Given the description of an element on the screen output the (x, y) to click on. 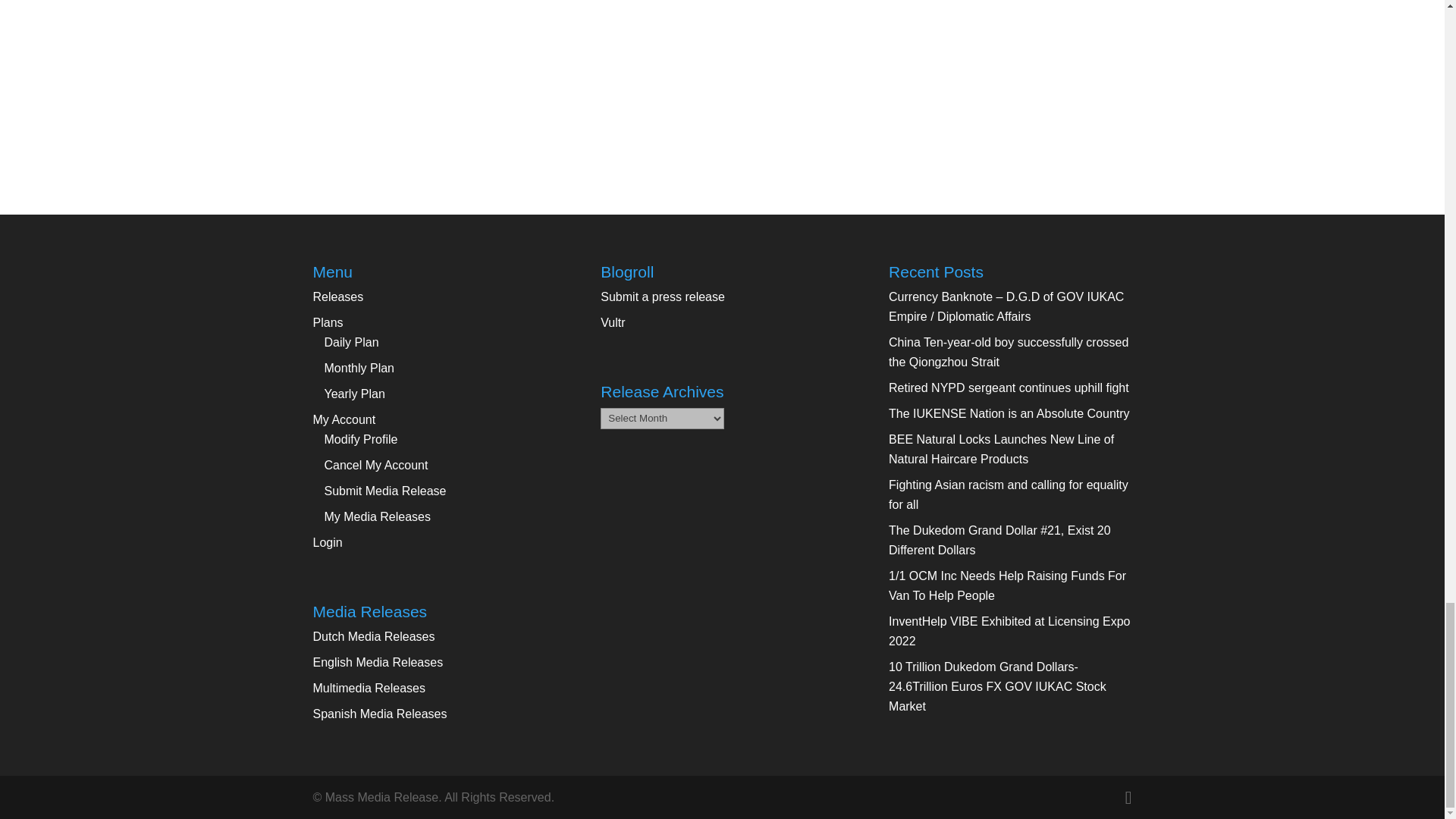
Submit a press release (662, 296)
Monthly Plan (359, 367)
My Media Releases (377, 516)
My Account (344, 419)
English Media Releases (377, 662)
Multimedia Releases (369, 687)
Daily Plan (351, 341)
Retired NYPD sergeant continues uphill fight (1008, 387)
Plans (327, 322)
Releases (337, 296)
The Ultimate Responsive WordPress Theme Builder (611, 322)
Login (327, 542)
Yearly Plan (354, 393)
Cancel My Account (376, 464)
